Given the description of an element on the screen output the (x, y) to click on. 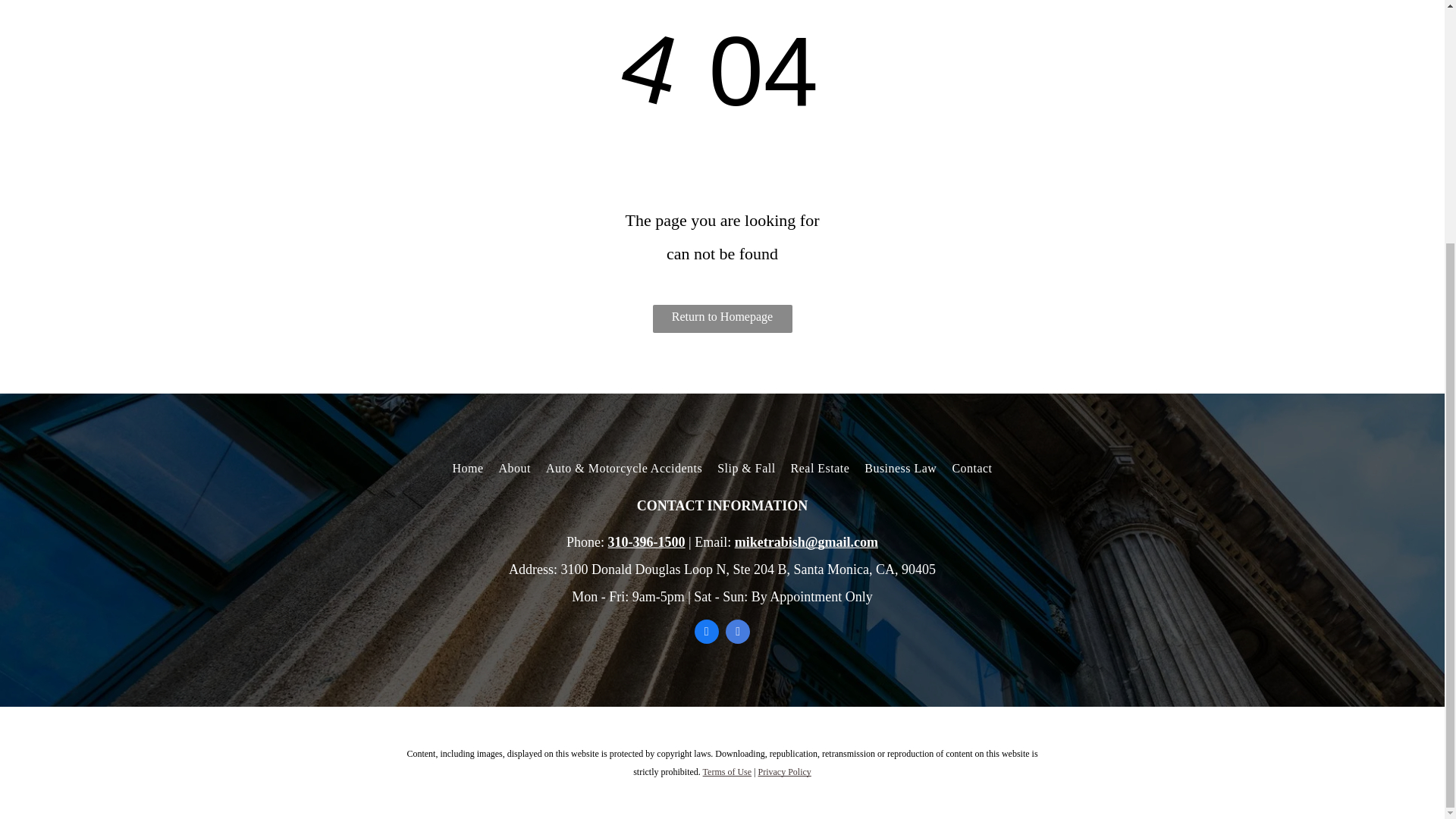
Contact (970, 468)
Return to Homepage (722, 318)
Business Law (900, 468)
About (515, 468)
Real Estate (820, 468)
Home (467, 468)
310-396-1500 (646, 541)
